Given the description of an element on the screen output the (x, y) to click on. 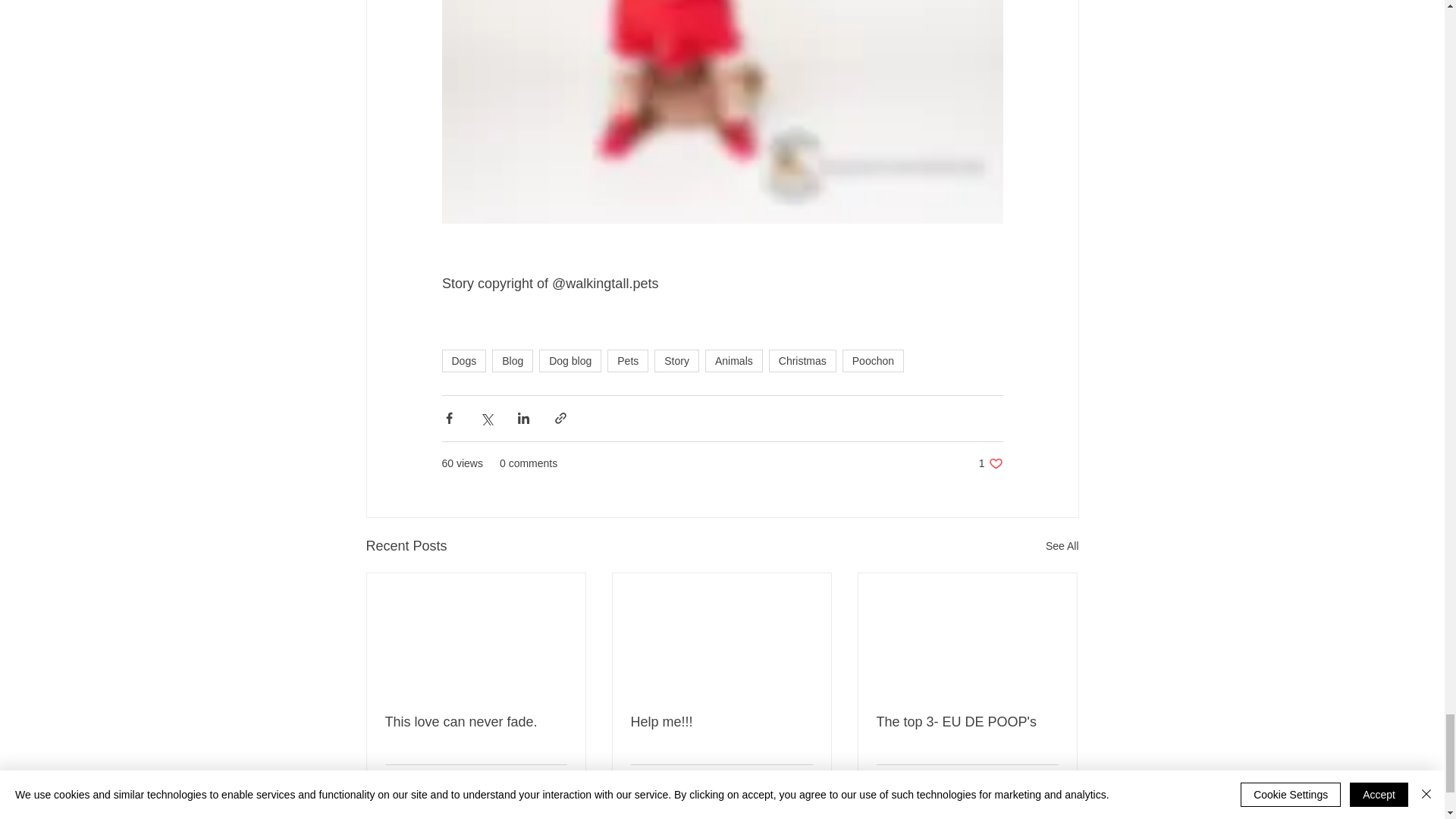
Animals (733, 360)
Dog blog (569, 360)
Dogs (463, 360)
Blog (512, 360)
Story (675, 360)
Pets (627, 360)
